Given the description of an element on the screen output the (x, y) to click on. 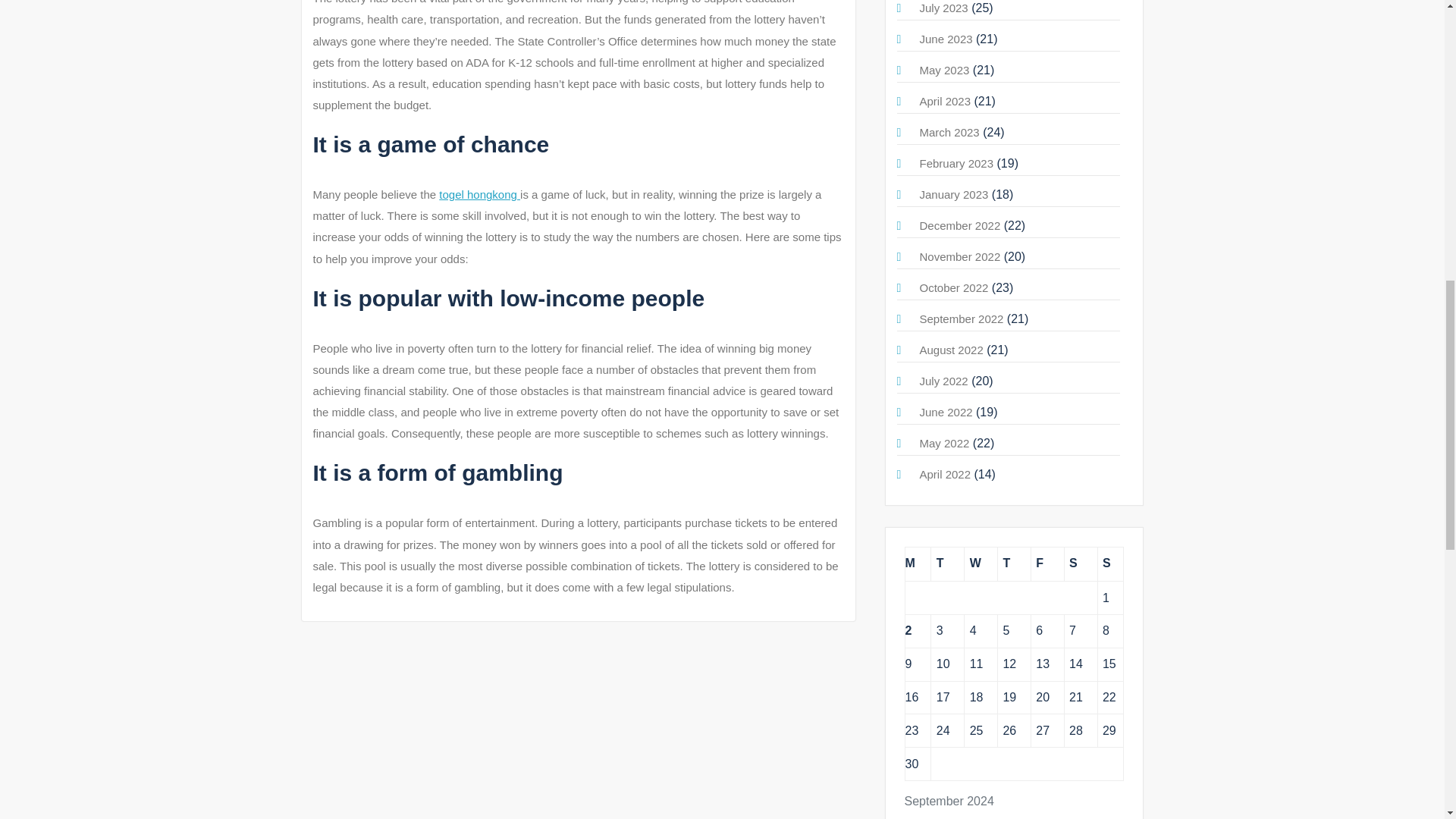
Tuesday (947, 563)
togel hongkong (479, 194)
January 2023 (953, 194)
Friday (1047, 563)
July 2023 (943, 7)
August 2022 (950, 349)
May 2022 (943, 442)
Wednesday (980, 563)
June 2023 (945, 38)
February 2023 (955, 163)
